Given the description of an element on the screen output the (x, y) to click on. 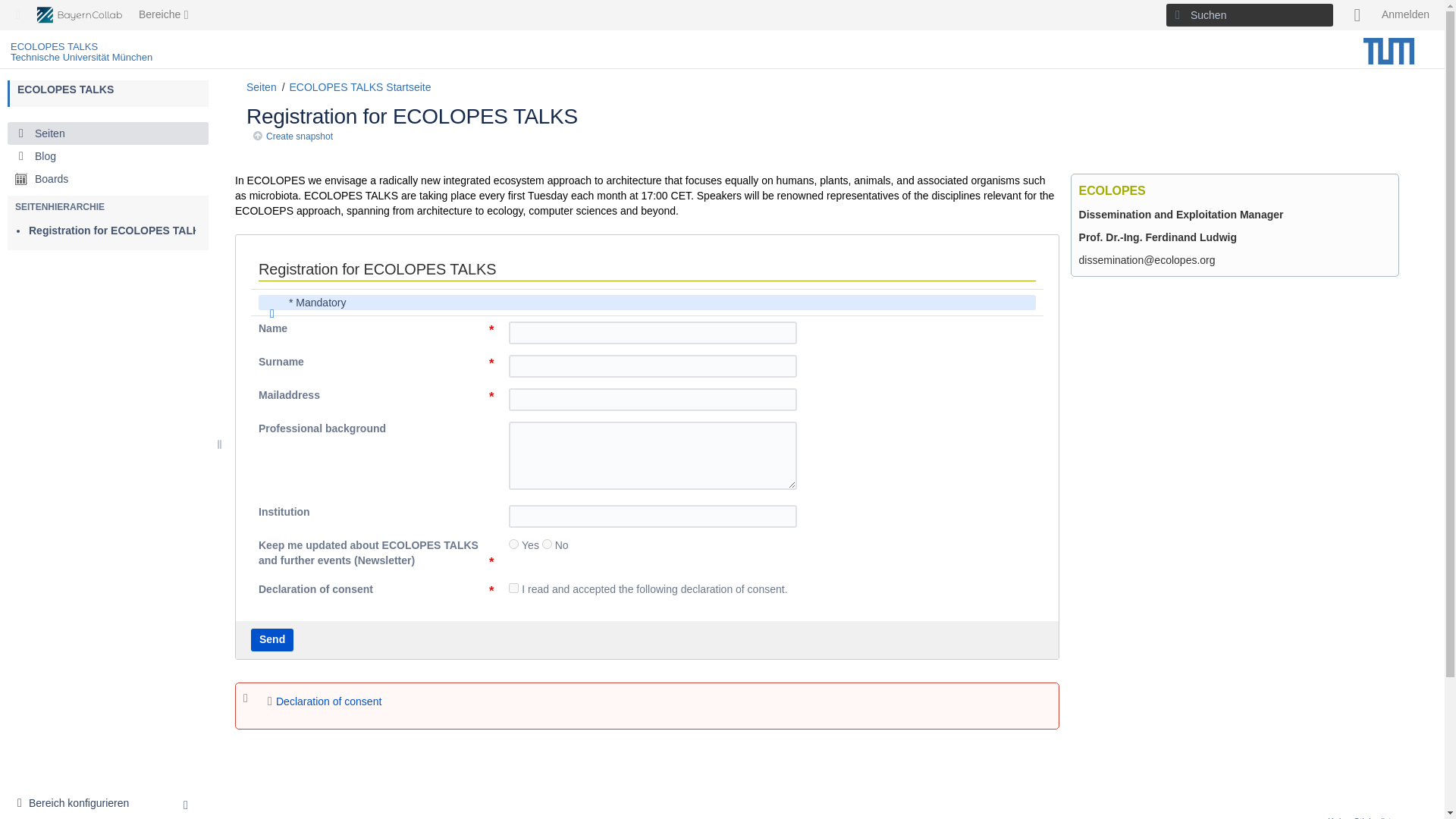
1 (77, 803)
Hilfe (513, 587)
1 (1357, 15)
Boards (513, 543)
Registration for ECOLOPES TALKS (107, 178)
2 (117, 231)
ECOLOPES TALKS (546, 543)
Seiten (65, 89)
Hilfe (107, 133)
